Given the description of an element on the screen output the (x, y) to click on. 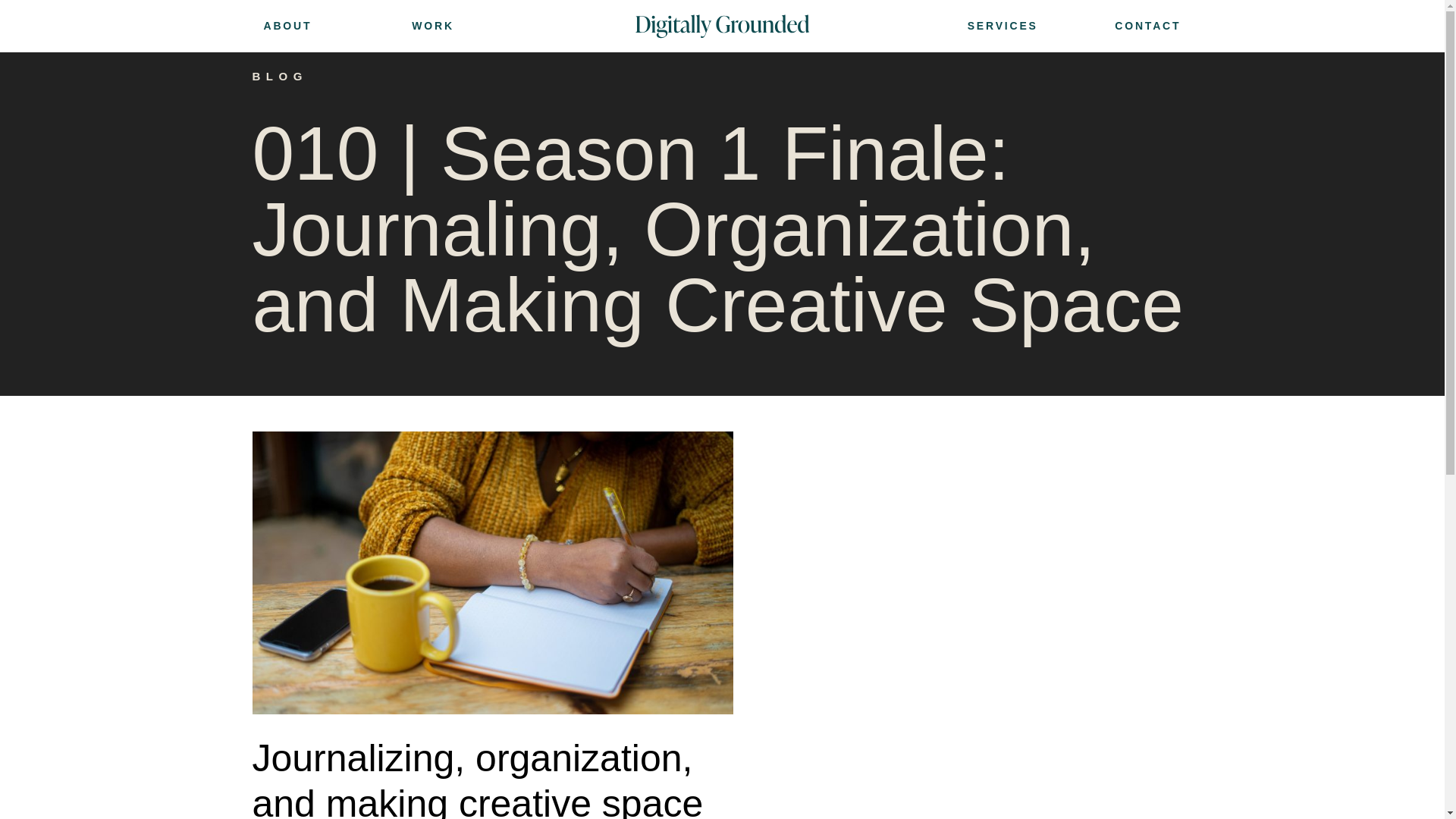
WORK (483, 25)
SERVICES (963, 25)
ABOUT (337, 25)
CONTACT (1109, 25)
